Given the description of an element on the screen output the (x, y) to click on. 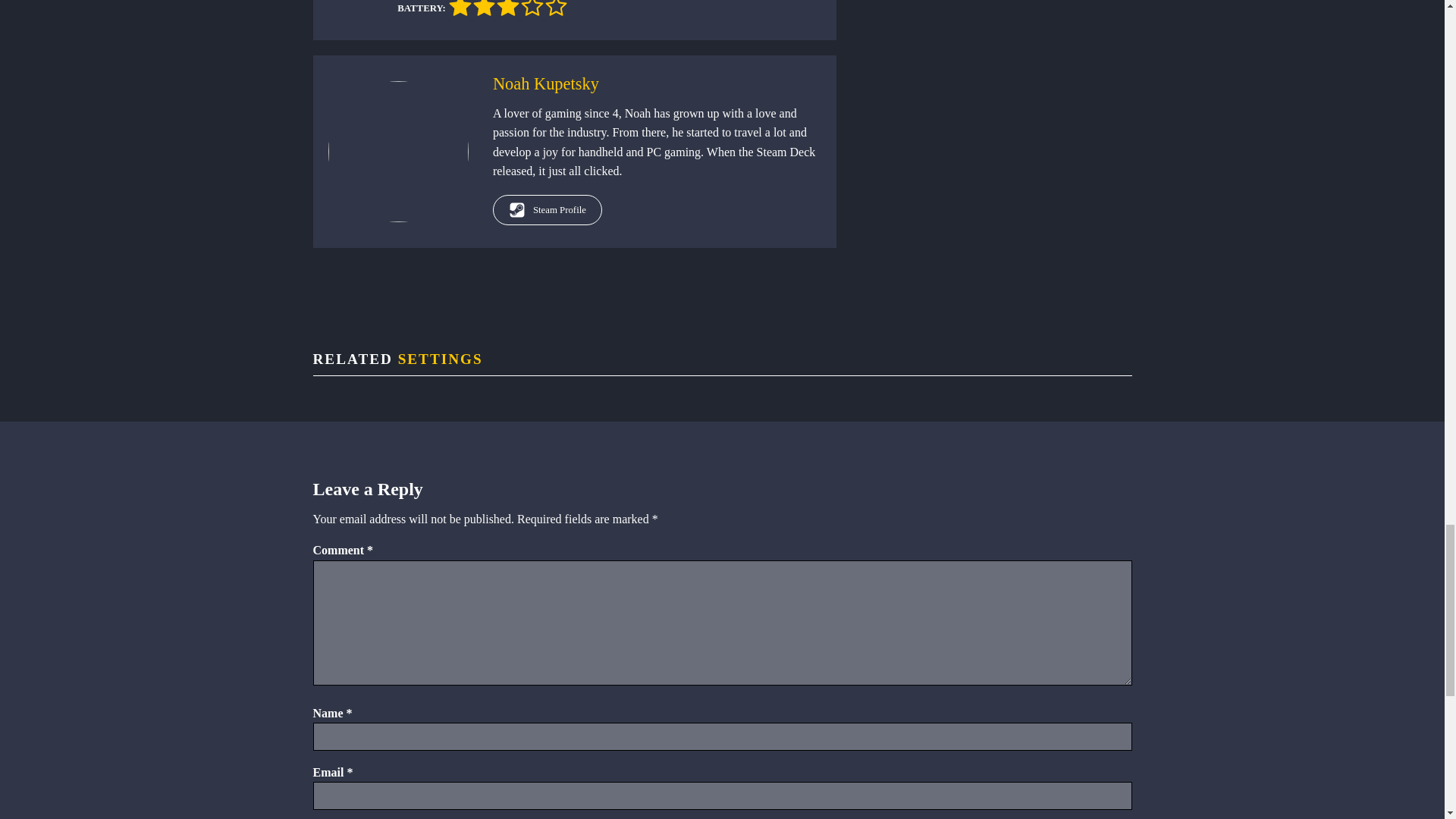
SETTINGS (440, 358)
Steam Profile (547, 209)
Noah Kupetsky (545, 83)
